Given the description of an element on the screen output the (x, y) to click on. 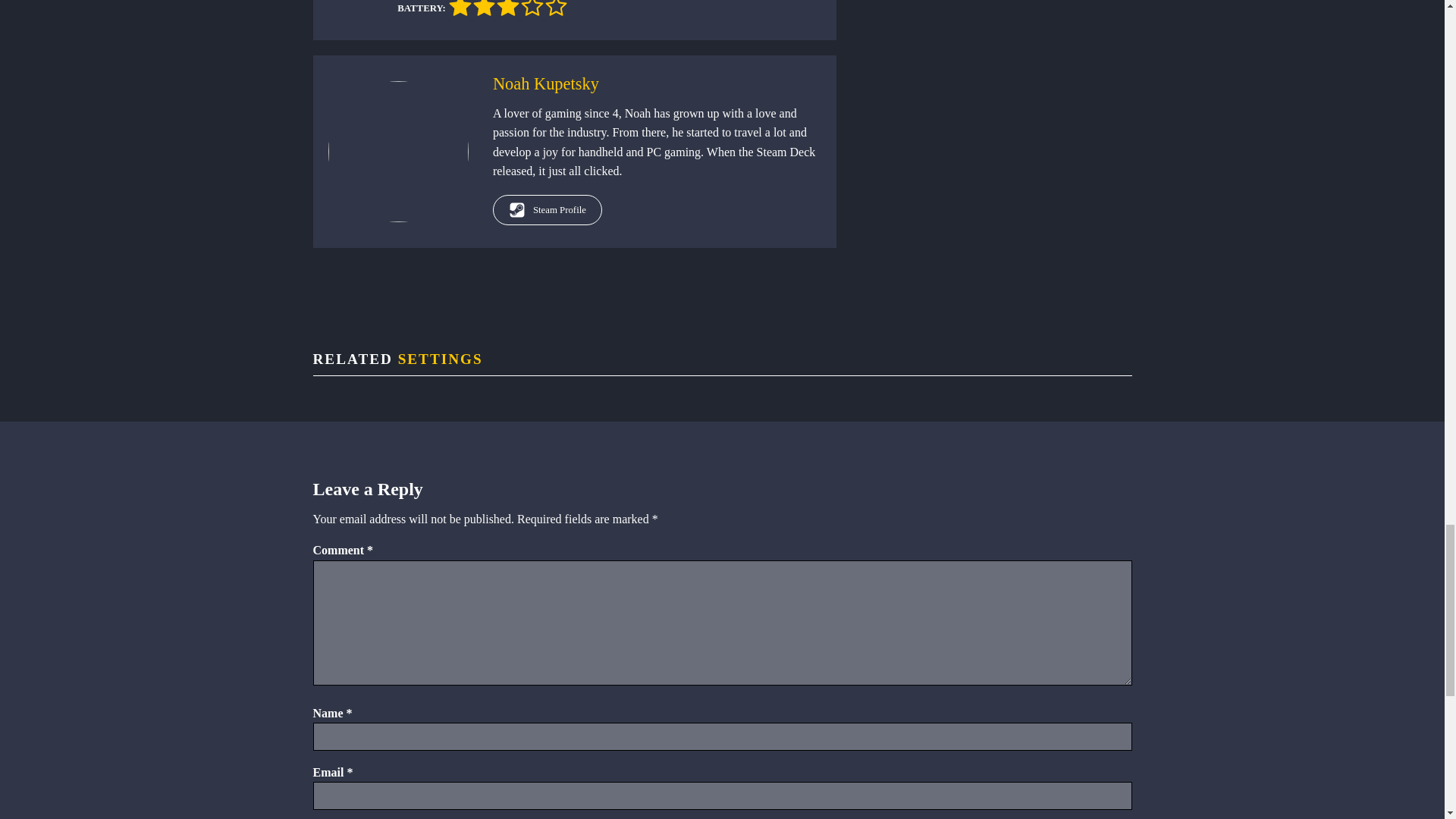
SETTINGS (440, 358)
Steam Profile (547, 209)
Noah Kupetsky (545, 83)
